Given the description of an element on the screen output the (x, y) to click on. 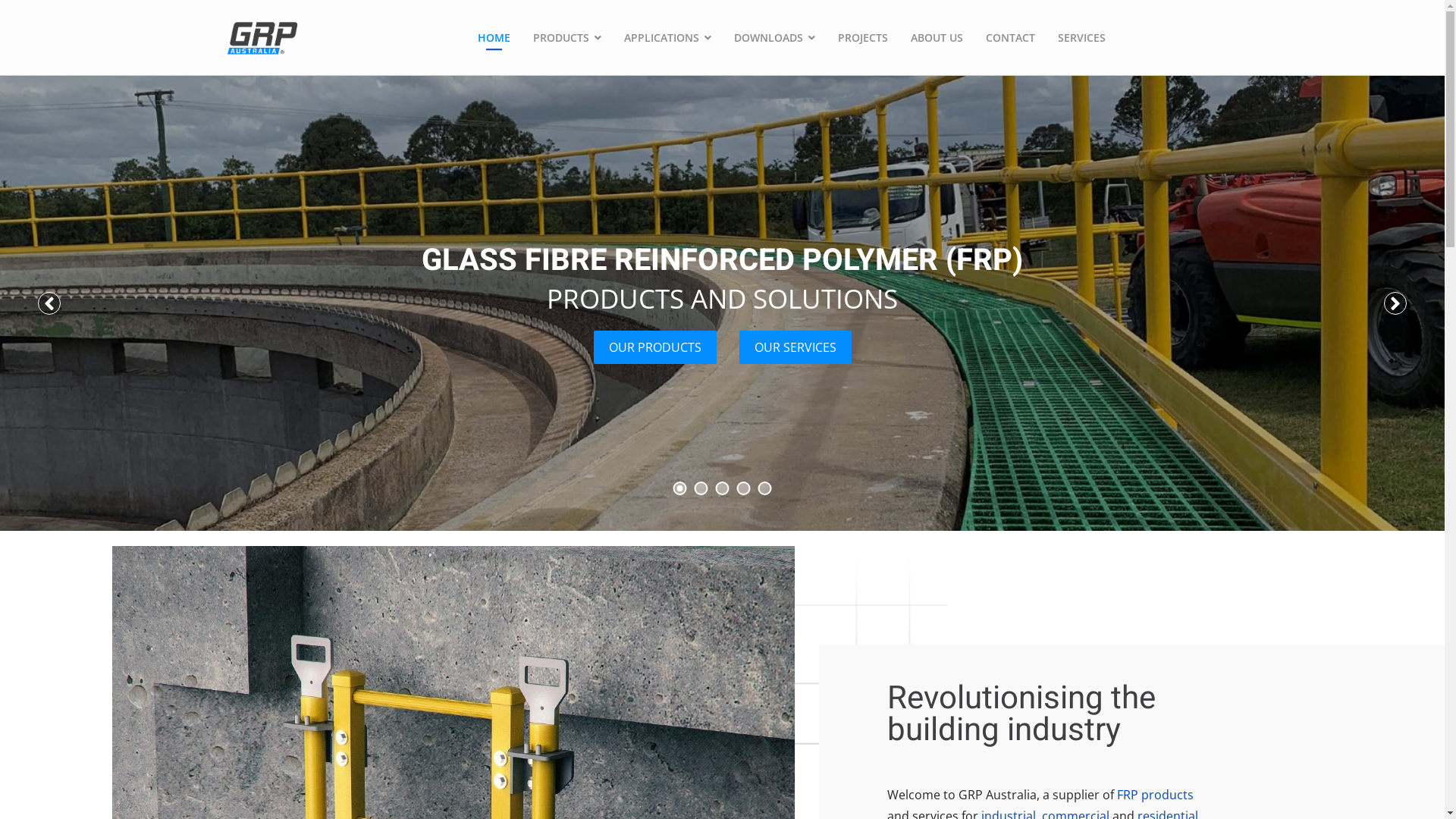
SERVICES Element type: text (1081, 37)
DOWNLOADS Element type: text (774, 37)
ABOUT US Element type: text (936, 37)
PRODUCTS Element type: text (566, 37)
OUR SERVICES Element type: text (794, 347)
PROJECTS Element type: text (862, 37)
CONTACT Element type: text (1010, 37)
FRP products Element type: text (1155, 794)
HOME Element type: text (493, 37)
OUR PRODUCTS Element type: text (654, 347)
APPLICATIONS Element type: text (667, 37)
